Given the description of an element on the screen output the (x, y) to click on. 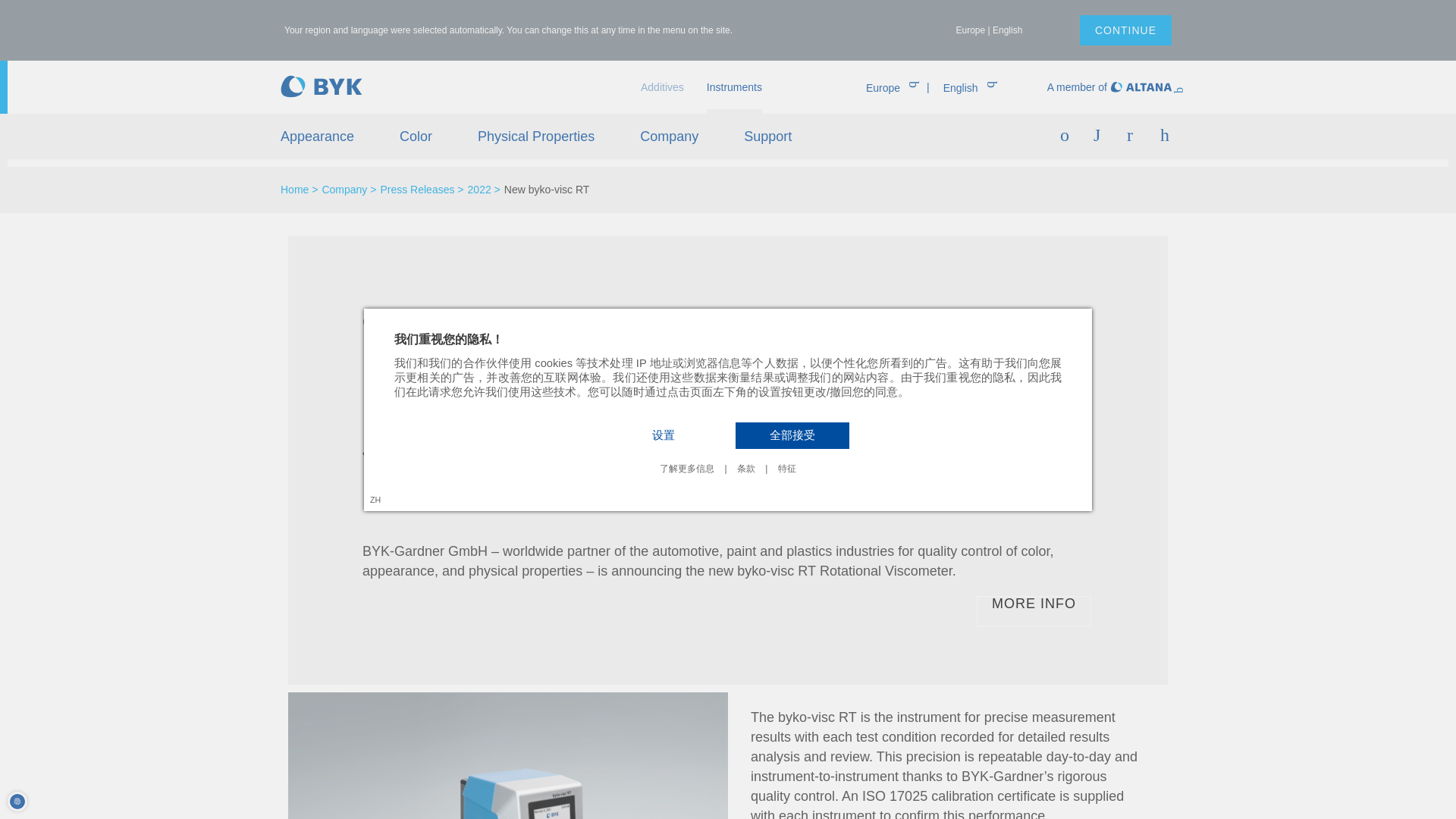
A member of (1076, 86)
Instruments (733, 86)
Physical Properties (535, 136)
Additives (662, 86)
CONTINUE (1126, 30)
Company (348, 189)
Physical Properties (535, 136)
Appearance (317, 136)
Appearance (317, 136)
Company (669, 136)
Language: zh (375, 499)
Language: zh (375, 498)
Press Releases (421, 189)
Company (727, 136)
